Given the description of an element on the screen output the (x, y) to click on. 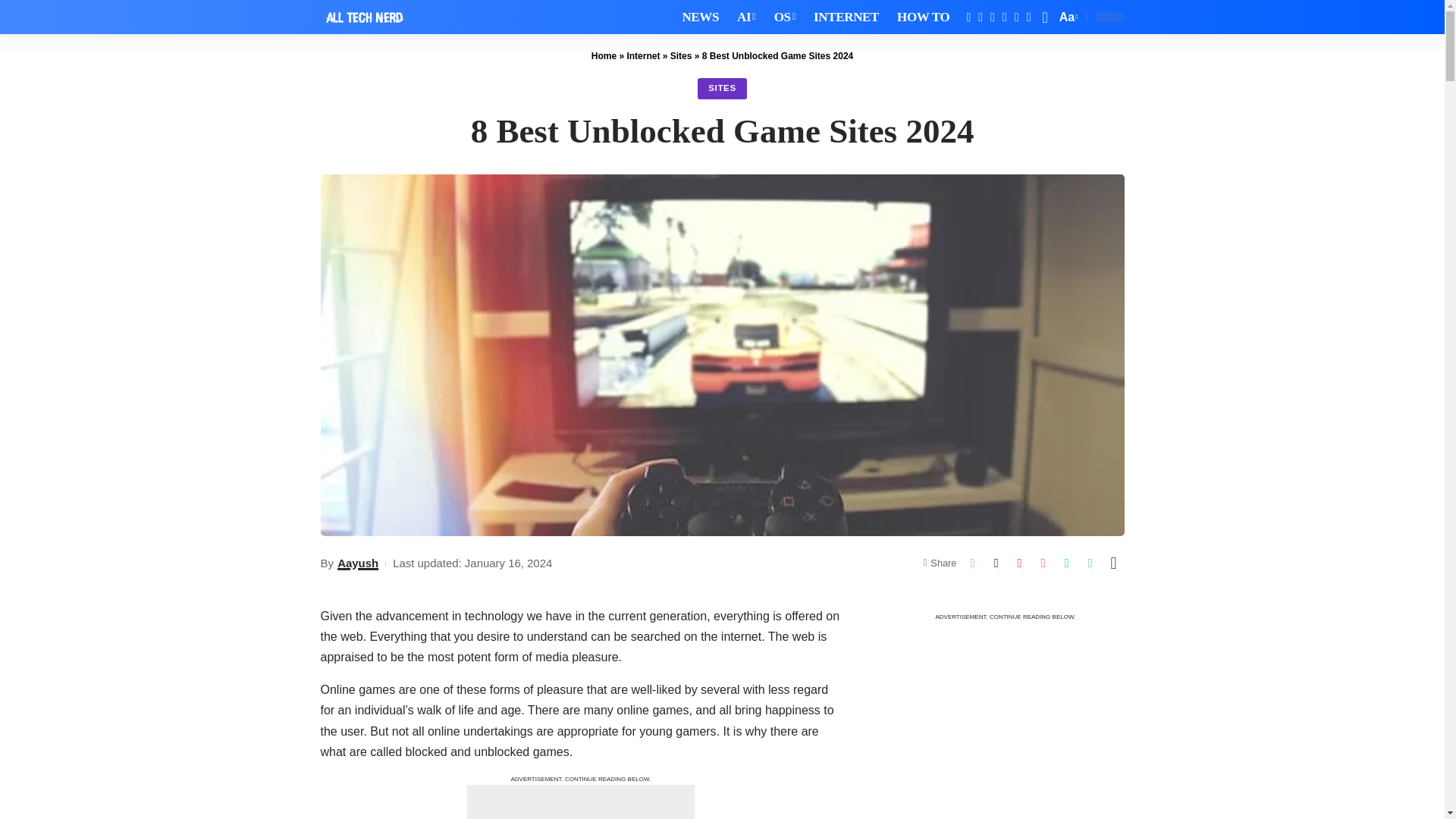
NEWS (700, 17)
OS (785, 17)
AI (746, 17)
Aa (1066, 16)
INTERNET (846, 17)
All Tech Nerd (363, 17)
HOW TO (923, 17)
